Given the description of an element on the screen output the (x, y) to click on. 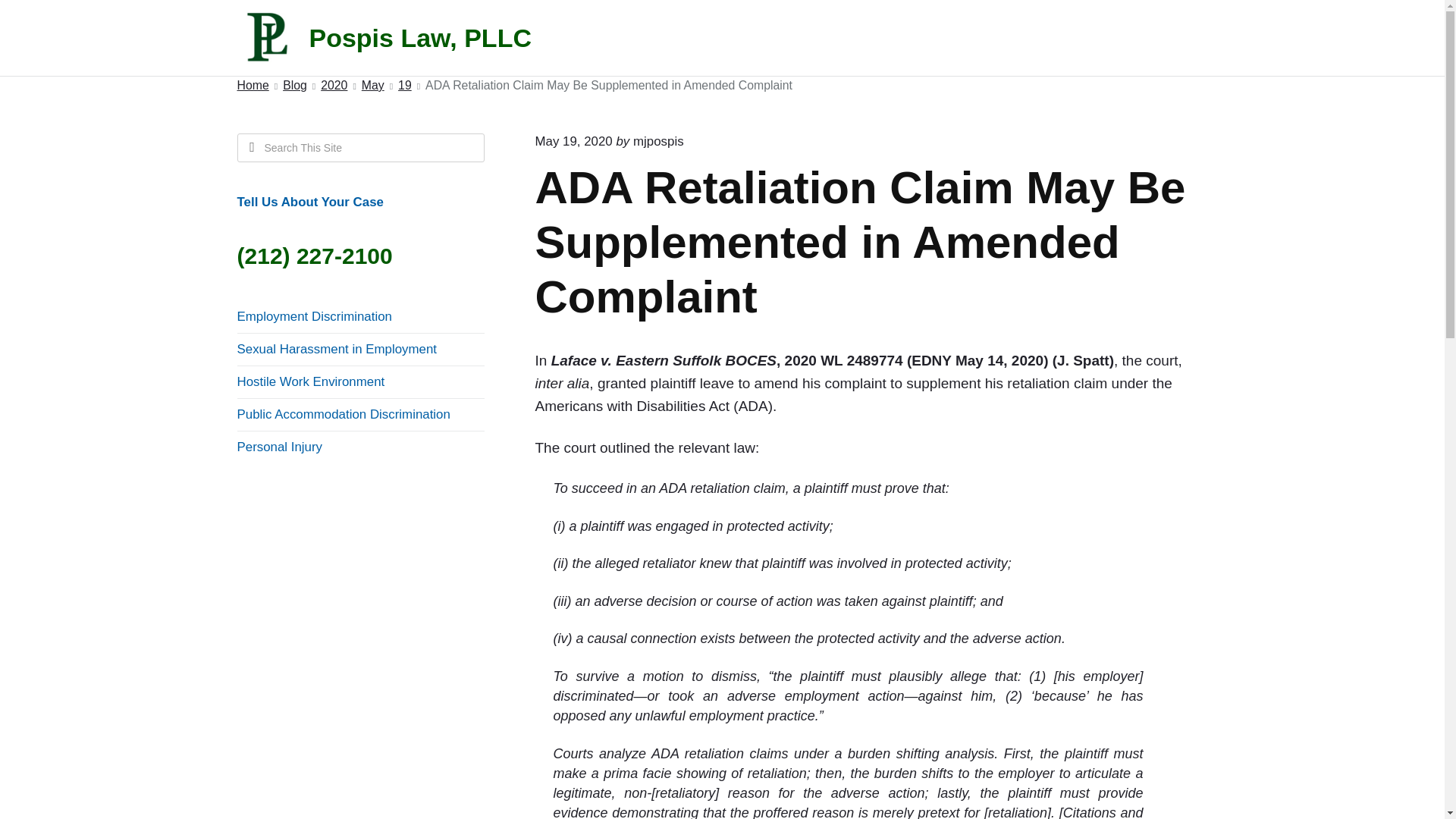
Pospis Law, PLLC (403, 38)
May (372, 85)
Blog (294, 85)
Home (251, 85)
2020 (333, 85)
mjpospis (658, 141)
Tuesday, May 19, 2020, 6:38 pm (573, 141)
Posts by mjpospis (658, 141)
